Given the description of an element on the screen output the (x, y) to click on. 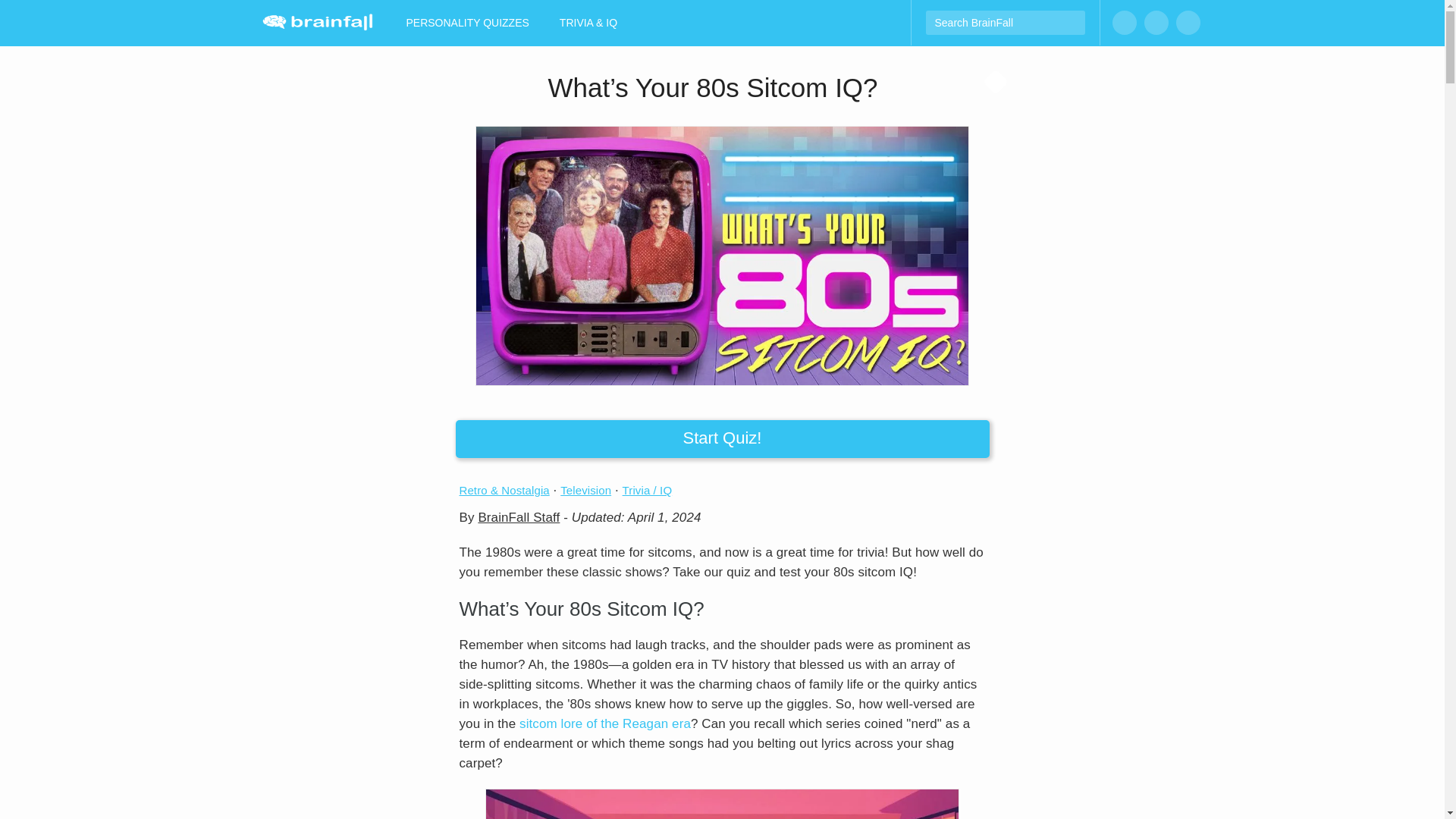
Start Quiz! (721, 438)
Follow us on Instagram! (1154, 22)
Follow us on Twitter! (1186, 22)
Like us on Facebook! (1123, 22)
